Given the description of an element on the screen output the (x, y) to click on. 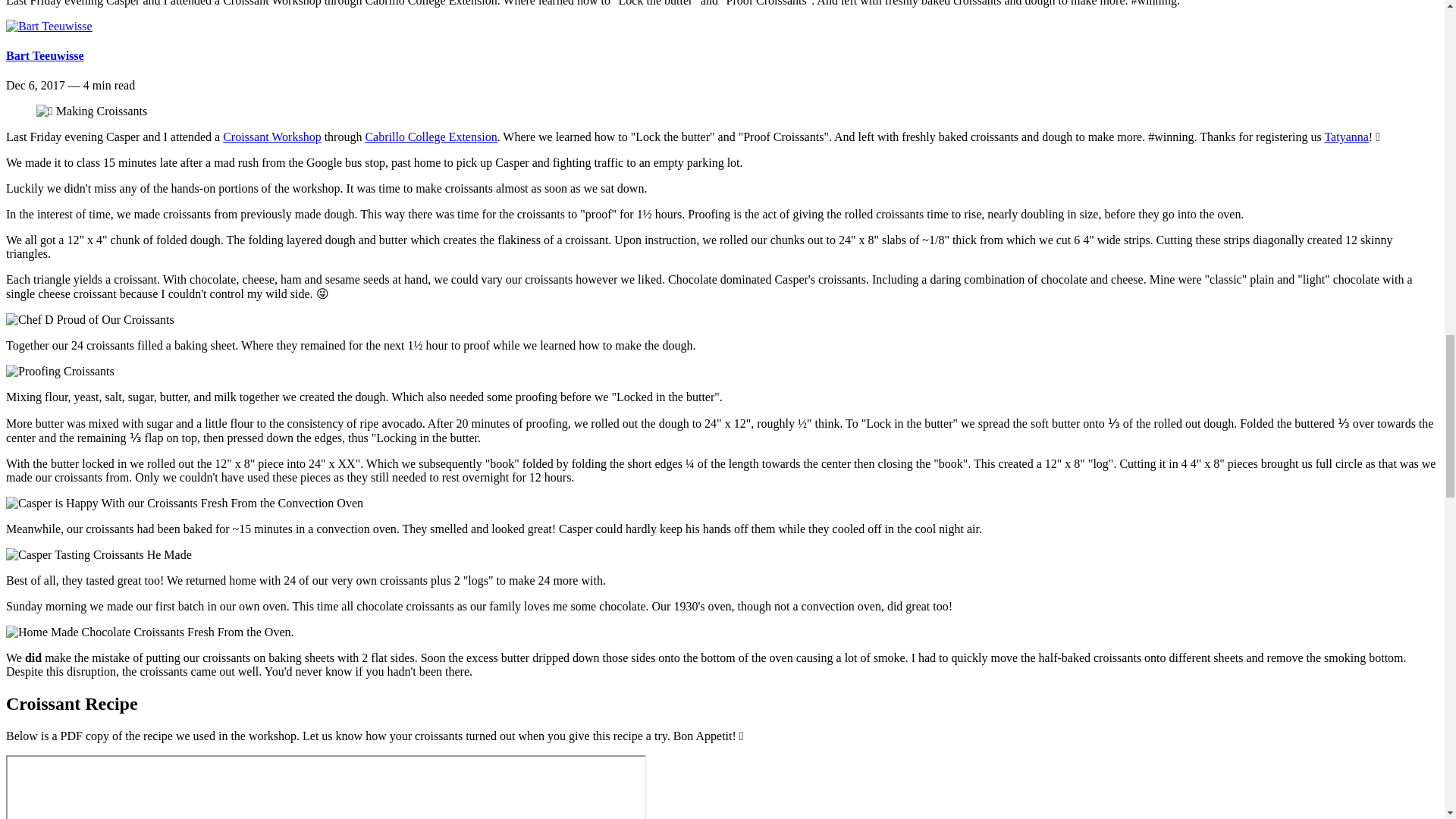
Bart Teeuwisse (44, 55)
Tatyanna (1345, 136)
Home Made Chocolate Croissants Fresh From the Oven. (149, 632)
Cabrillo College Extension (430, 136)
Casper Tasting Croissants He Made (98, 554)
Chef D Proud of Our Croissants (89, 319)
Croissant Workshop (271, 136)
Proofing Croissants (60, 371)
